Given the description of an element on the screen output the (x, y) to click on. 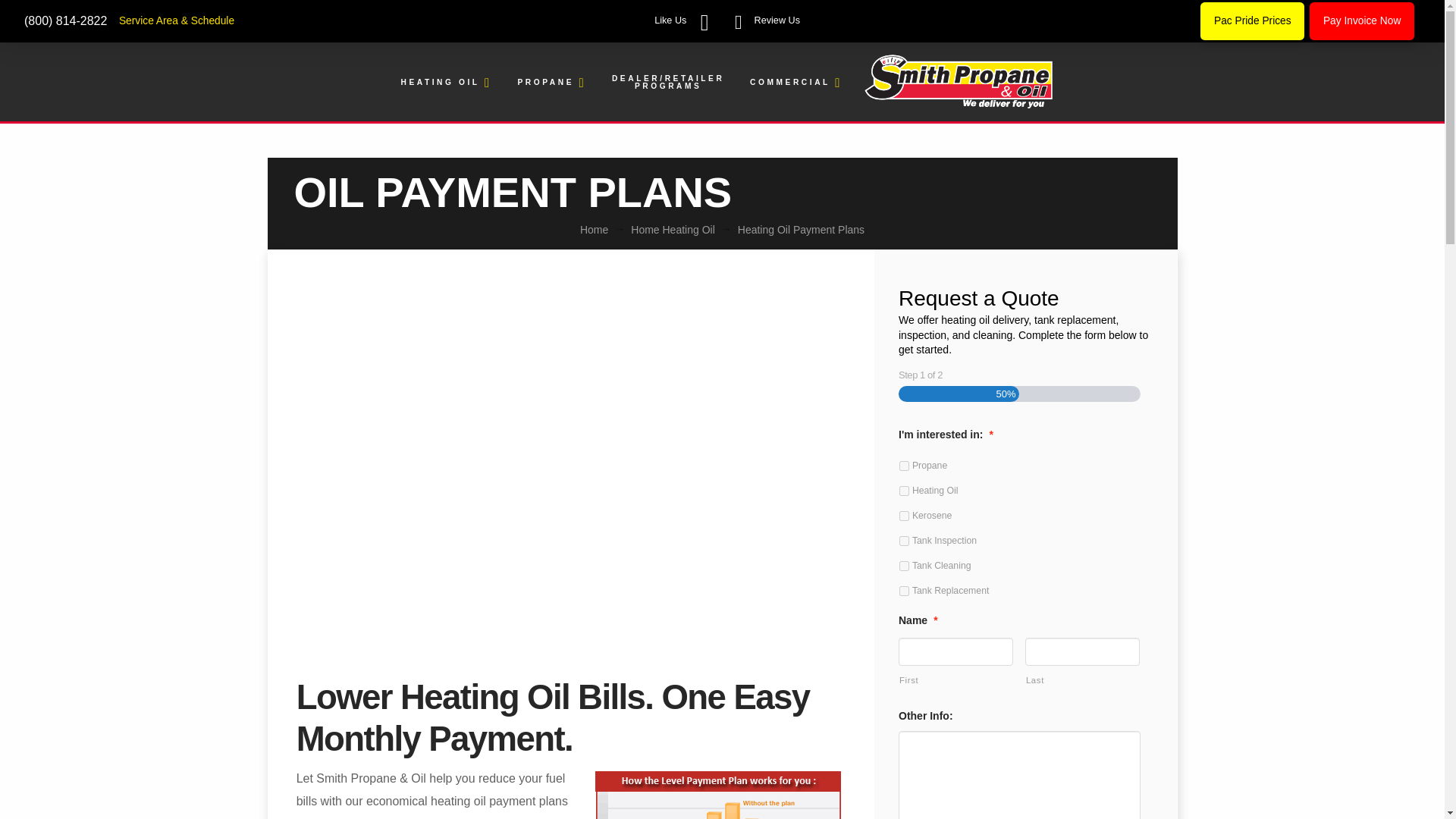
COMMERCIAL (794, 82)
Home Heating Oil (672, 229)
Heating Oil Payment Plans (801, 229)
Tank Inspection (903, 541)
PROPANE (549, 82)
Pay Invoice Now (1360, 20)
Tank Cleaning (903, 565)
Tank Replacement (903, 591)
Propane (903, 465)
Kerosene (903, 515)
You Are Here (801, 229)
Pac Pride Prices (1251, 20)
HEATING OIL (445, 82)
Home (593, 229)
Heating Oil (903, 491)
